Given the description of an element on the screen output the (x, y) to click on. 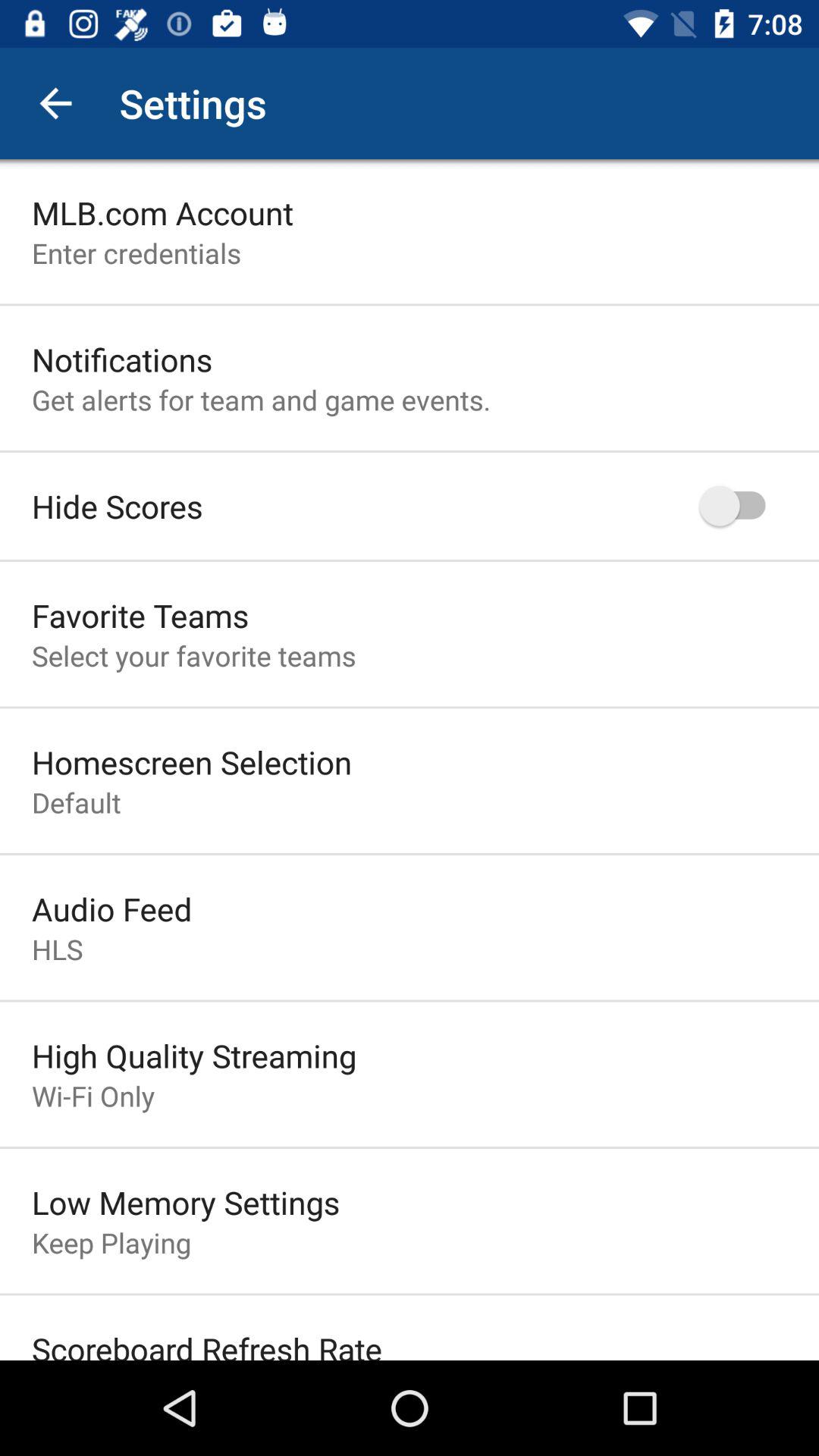
jump to the scoreboard refresh rate item (206, 1343)
